Given the description of an element on the screen output the (x, y) to click on. 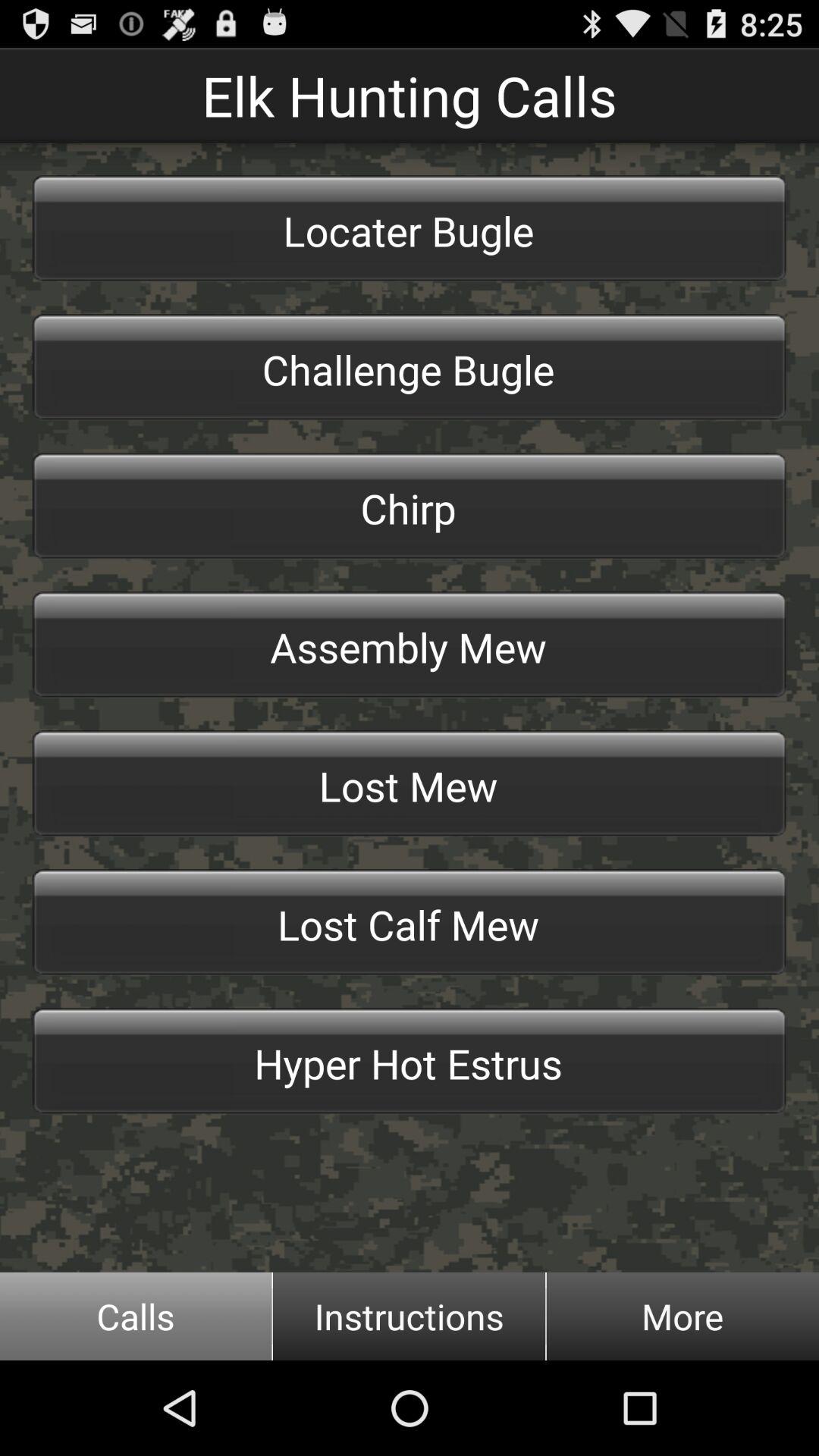
scroll to the assembly mew (409, 644)
